Given the description of an element on the screen output the (x, y) to click on. 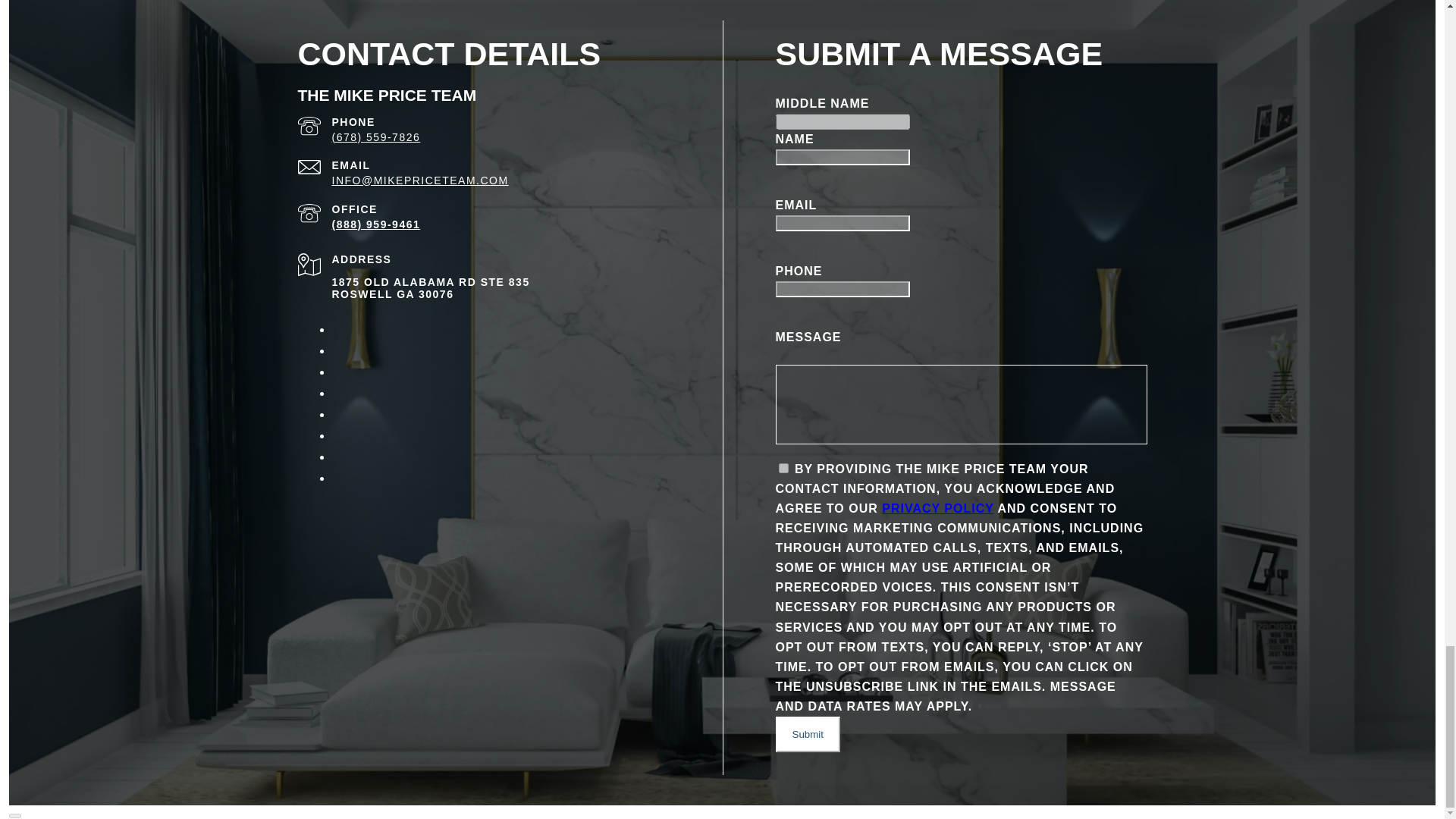
on (782, 468)
